Given the description of an element on the screen output the (x, y) to click on. 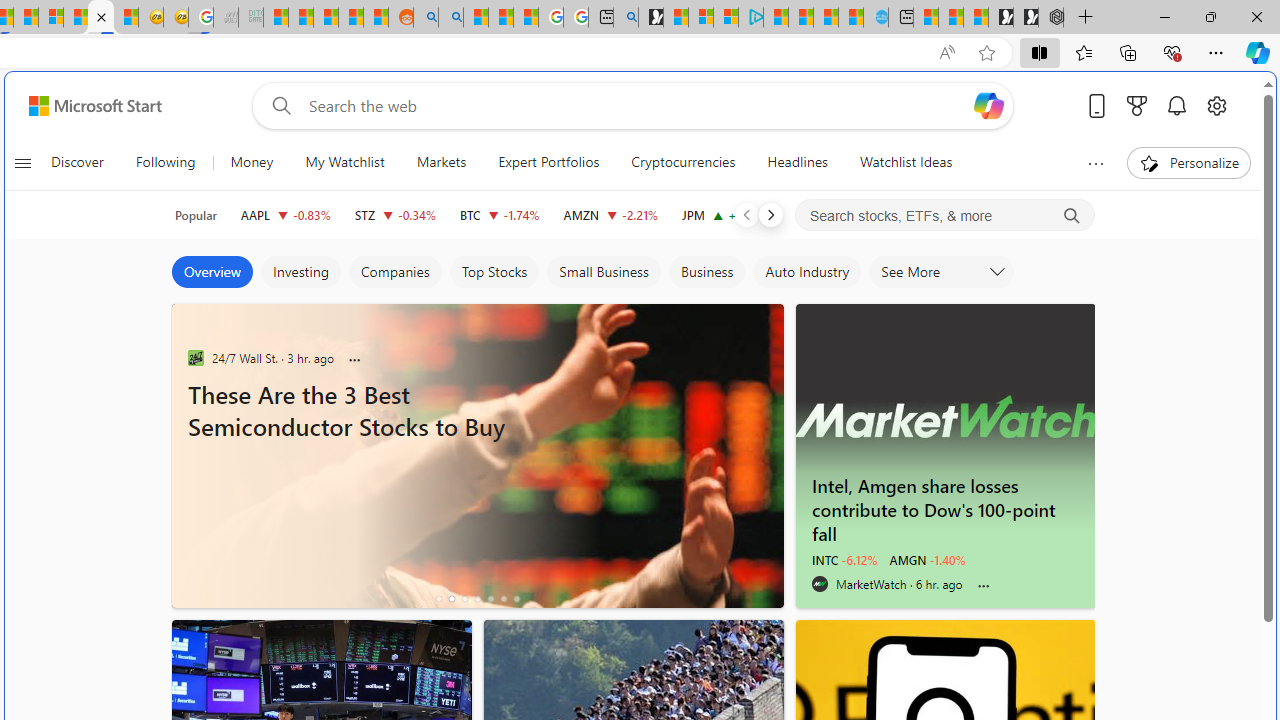
Markets (441, 162)
Popular (196, 215)
Search stocks, ETFs, & more (945, 215)
